Given the description of an element on the screen output the (x, y) to click on. 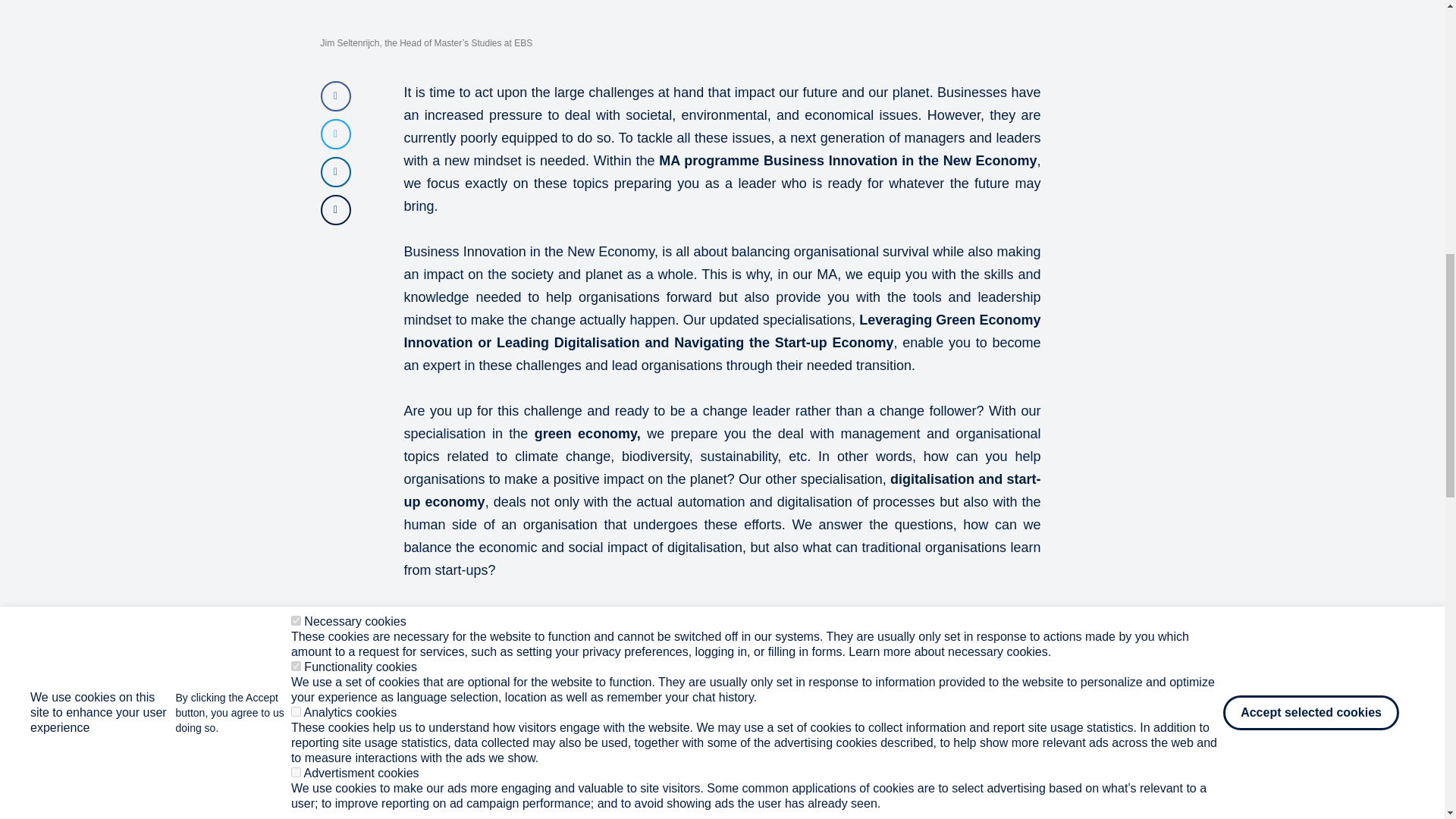
Twitter (335, 133)
Email (335, 209)
Linkedin (335, 172)
Facebook (335, 96)
